Given the description of an element on the screen output the (x, y) to click on. 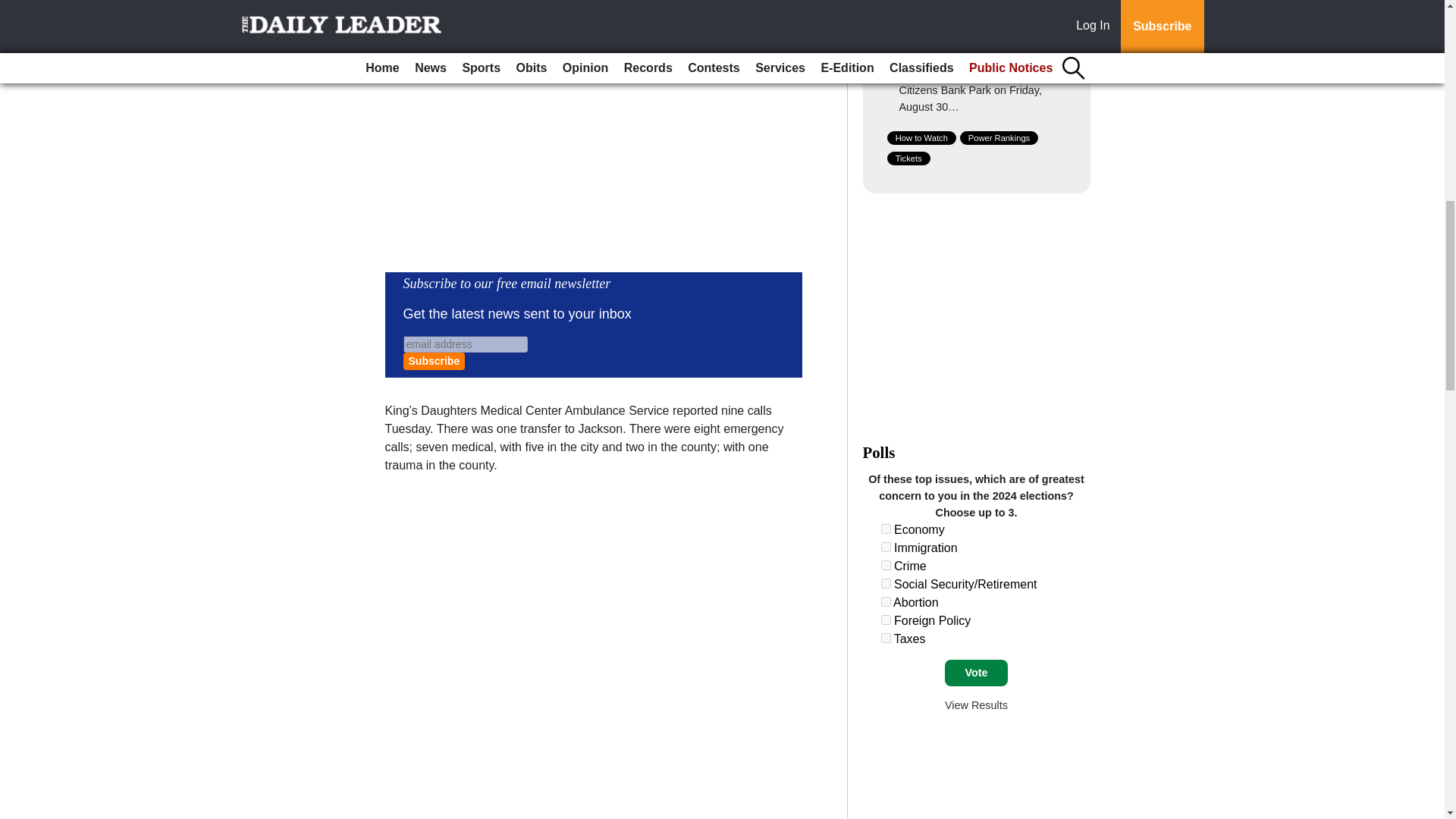
868 (885, 601)
869 (885, 619)
870 (885, 637)
864 (885, 528)
867 (885, 583)
Braves vs. Phillies: Betting Preview for August 30 (967, 30)
Subscribe (434, 361)
How to Watch (921, 137)
865 (885, 547)
View Results Of This Poll (975, 705)
